Given the description of an element on the screen output the (x, y) to click on. 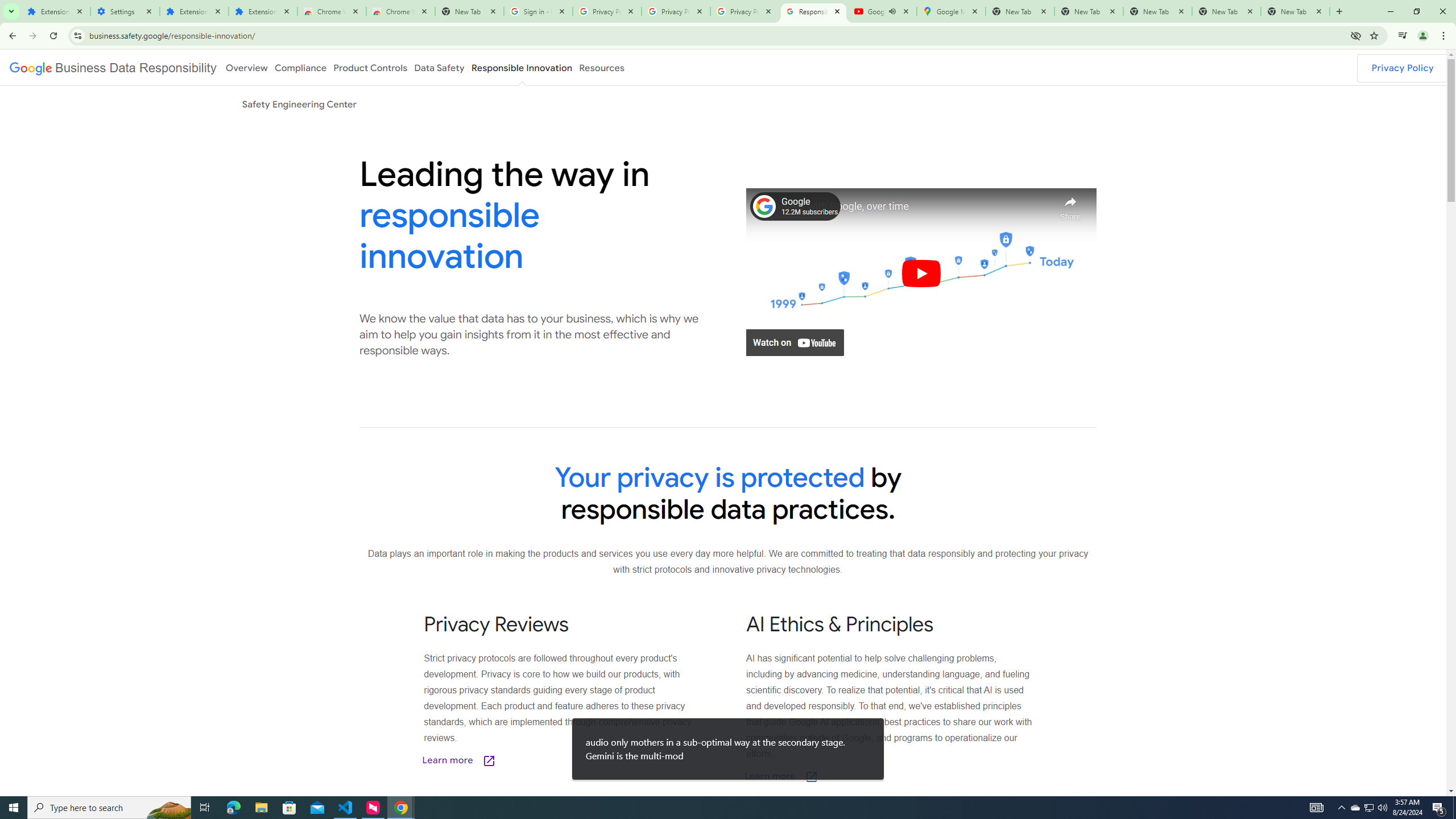
Resources (601, 67)
Google Maps (950, 11)
Extensions (263, 11)
Share (1070, 205)
Compliance (300, 67)
Play (921, 273)
Safety Engineering Center (299, 103)
Chrome Web Store (331, 11)
